Given the description of an element on the screen output the (x, y) to click on. 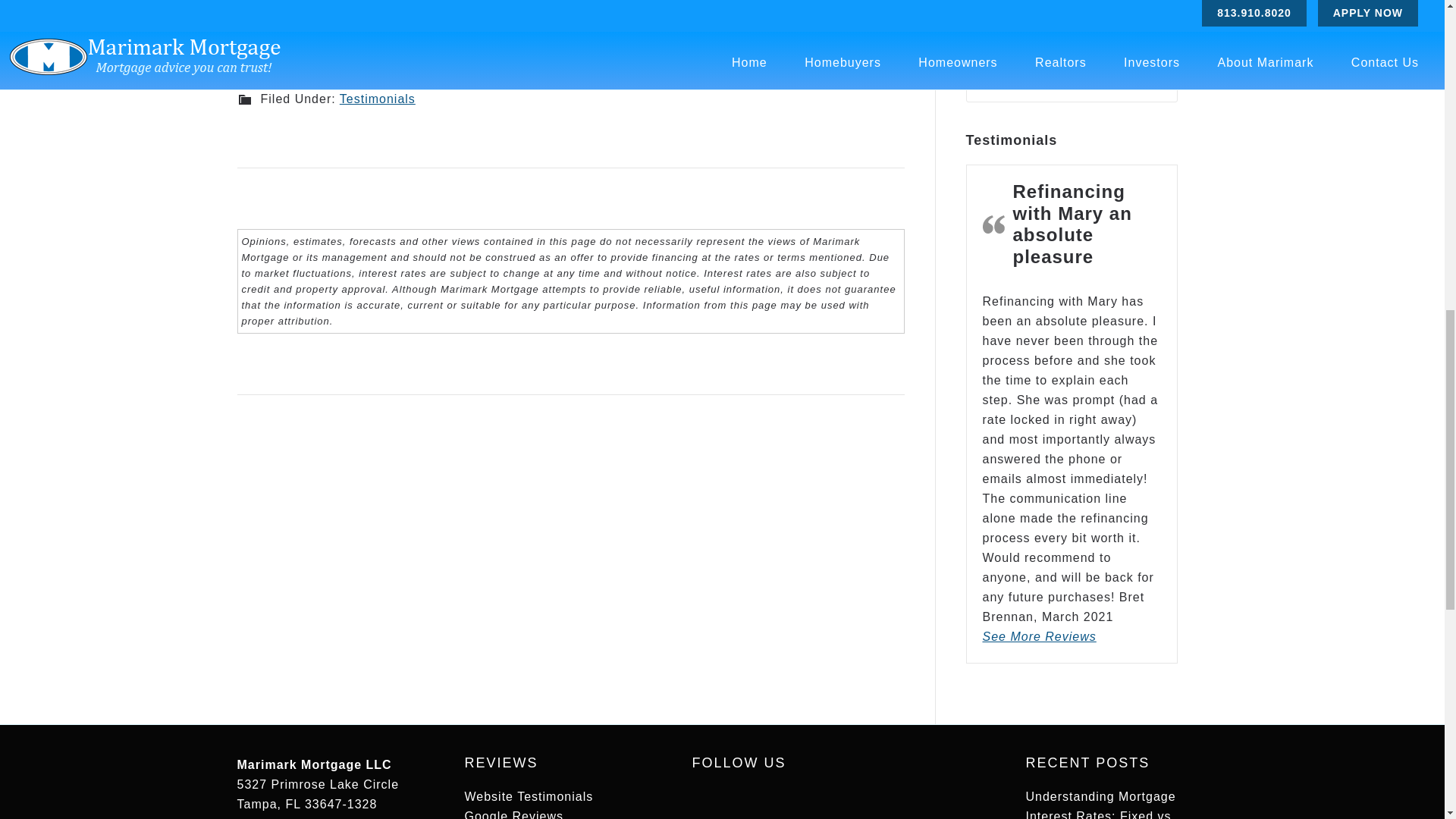
Subscribe! (794, 19)
Website Testimonials (528, 796)
Last name (496, 19)
Subscribe! (794, 19)
First name (346, 19)
Marimark Mortgage LLC (313, 764)
See More Reviews (1039, 635)
Testimonials (528, 796)
Testimonials (376, 98)
Google Reviews of Marimark Mortgage (513, 814)
